Given the description of an element on the screen output the (x, y) to click on. 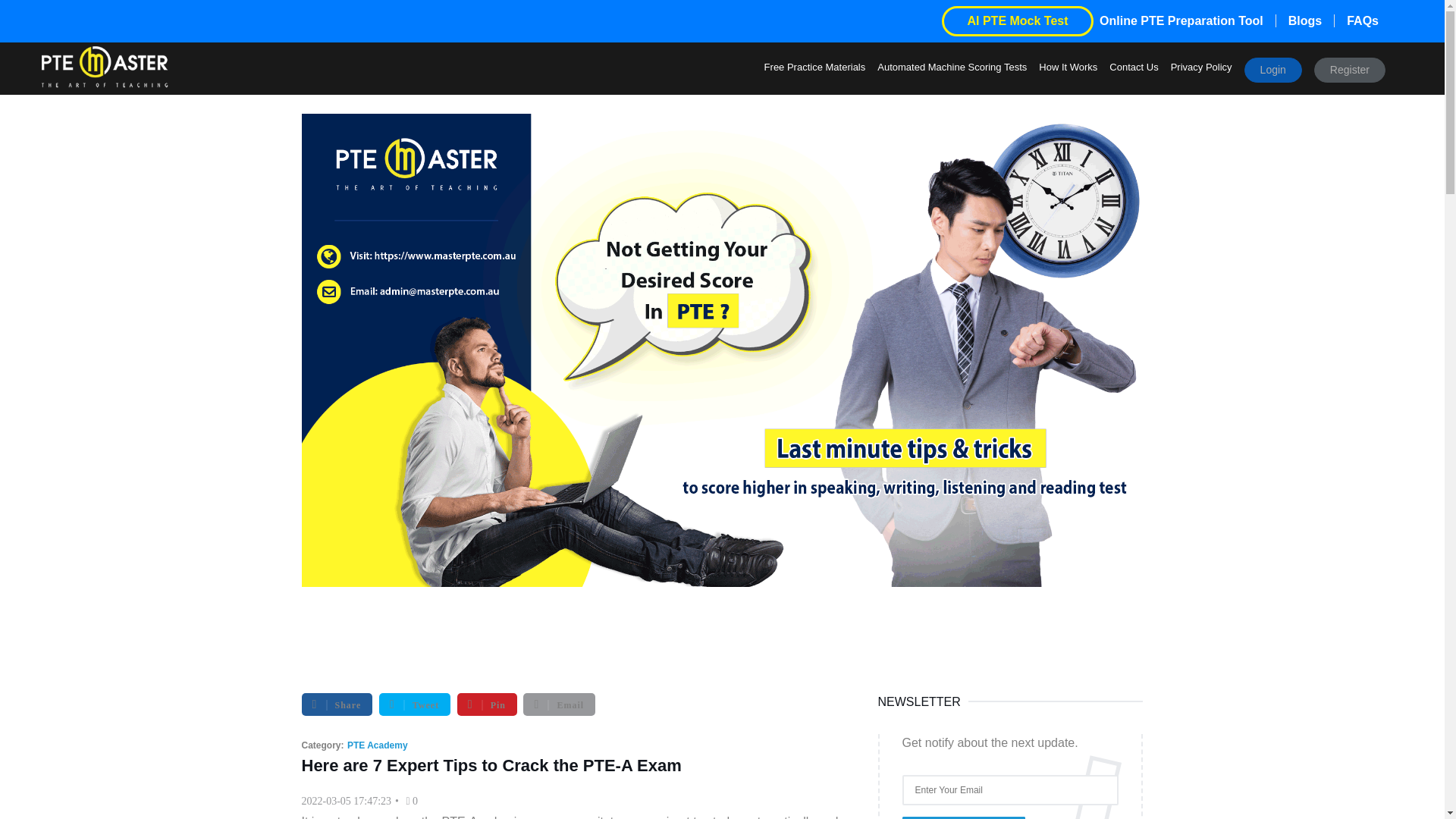
Share (336, 703)
Email (558, 703)
PTE Academy (377, 745)
Contact Us (1133, 70)
Online PTE Preparation Tool (1187, 20)
How It Works (1067, 70)
Free Practice Materials (814, 70)
Register (1350, 69)
SUBSCRIBE (963, 817)
Tweet (413, 703)
